Given the description of an element on the screen output the (x, y) to click on. 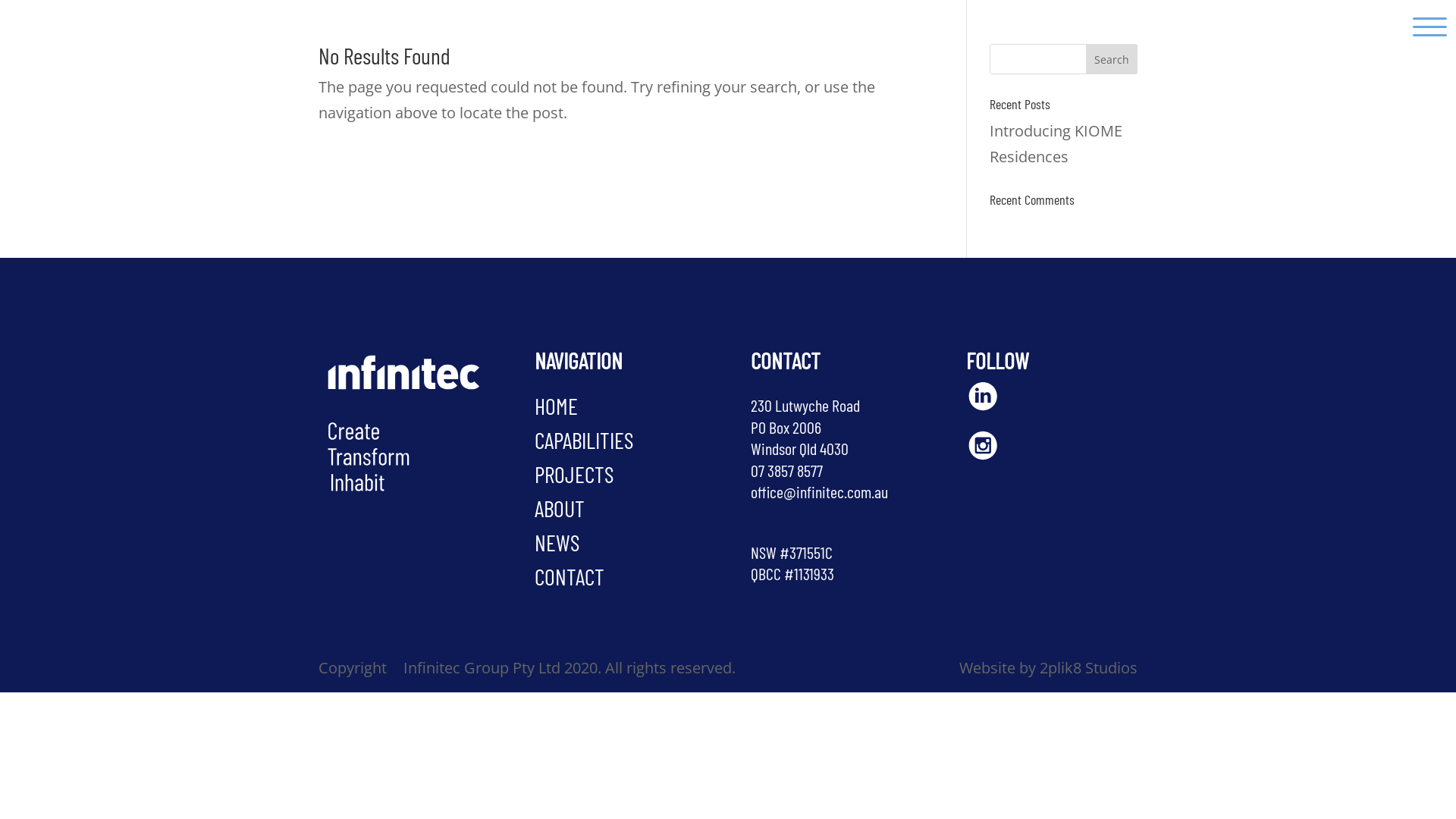
CAPABILITIES Element type: text (583, 439)
Introducing KIOME Residences Element type: text (1055, 143)
ABOUT Element type: text (559, 507)
Search Element type: text (1111, 58)
HOME Element type: text (555, 405)
PROJECTS Element type: text (573, 473)
NEWS Element type: text (556, 541)
CONTACT Element type: text (569, 575)
